Given the description of an element on the screen output the (x, y) to click on. 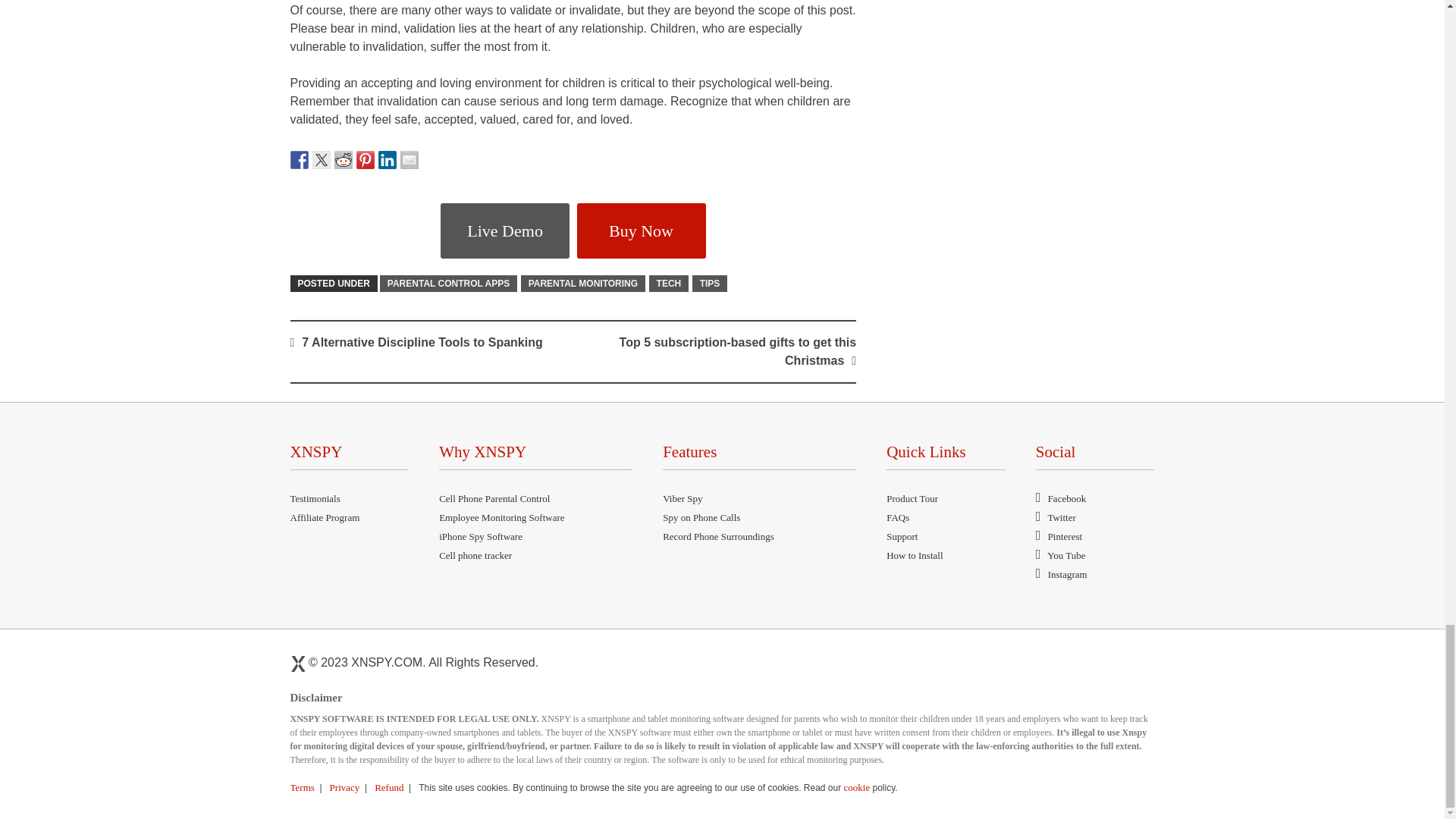
Share on Twitter (321, 159)
Share by email (409, 159)
TIPS (710, 283)
Live Demo (505, 230)
Share on Facebook (298, 159)
7 Alternative Discipline Tools to Spanking (421, 341)
TECH (668, 283)
Share on Linkedin (386, 159)
Buy Now (641, 230)
Top 5 subscription-based gifts to get this Christmas (738, 350)
PARENTAL CONTROL APPS (448, 283)
PARENTAL MONITORING (583, 283)
Share on Reddit (342, 159)
Pin it with Pinterest (365, 159)
